Given the description of an element on the screen output the (x, y) to click on. 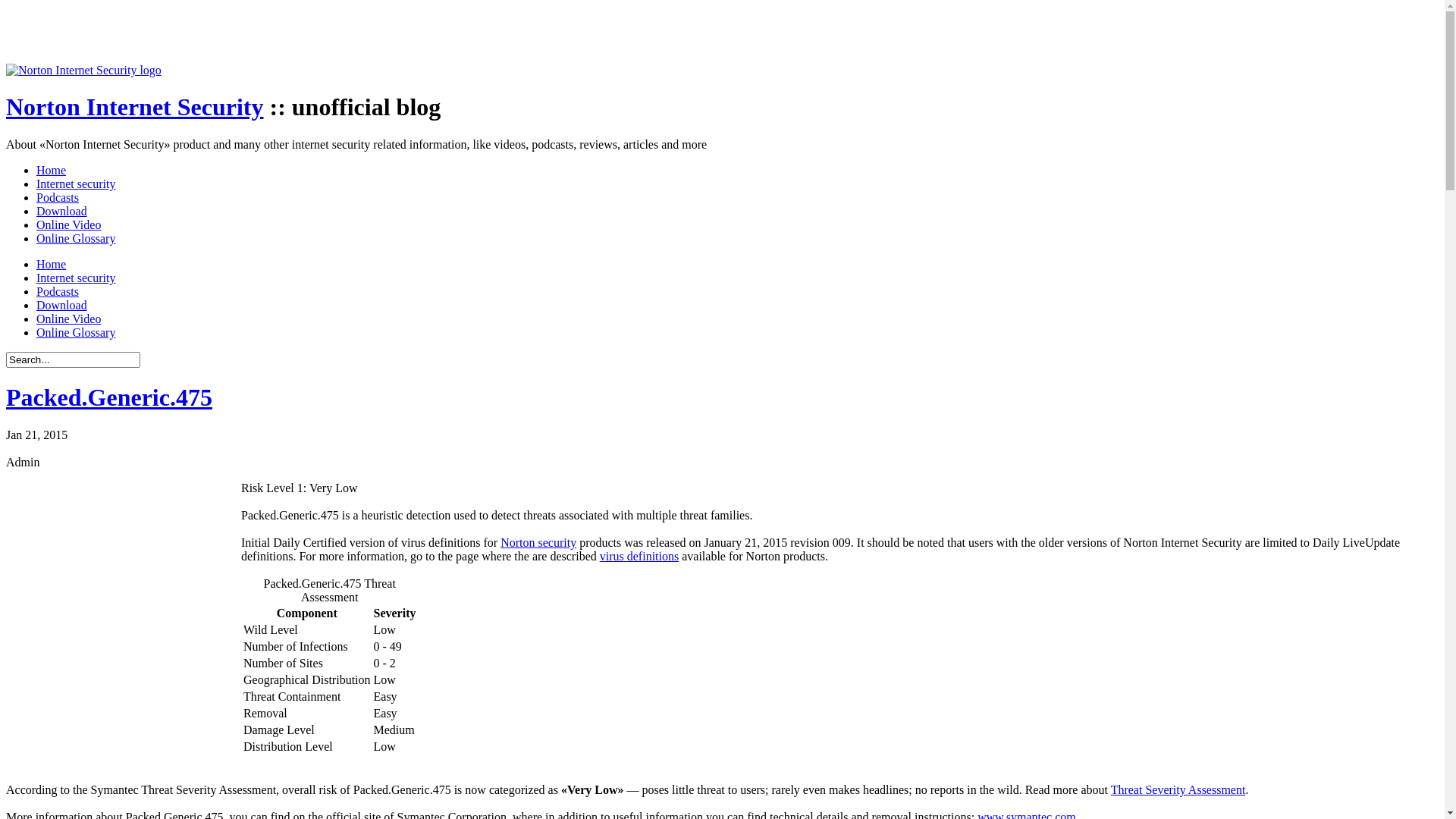
Norton Internet Security Element type: hover (83, 69)
Threat Severity Assessment Element type: text (1177, 789)
Internet security Element type: text (75, 277)
Download Element type: text (61, 304)
Norton security Element type: text (538, 542)
Packed.Generic.475 Element type: text (109, 397)
Online Glossary Element type: text (75, 238)
Online Video Element type: text (68, 224)
Home Element type: text (50, 263)
Podcasts Element type: text (57, 291)
Internet security Element type: text (75, 183)
Advertisement Element type: hover (440, 40)
virus definitions Element type: text (638, 555)
Online Video Element type: text (68, 318)
Norton Internet Security Element type: text (134, 106)
Download Element type: text (61, 210)
Podcasts Element type: text (57, 197)
Search... Element type: text (73, 359)
Online Glossary Element type: text (75, 332)
Home Element type: text (50, 169)
Advertisement Element type: hover (119, 576)
